Given the description of an element on the screen output the (x, y) to click on. 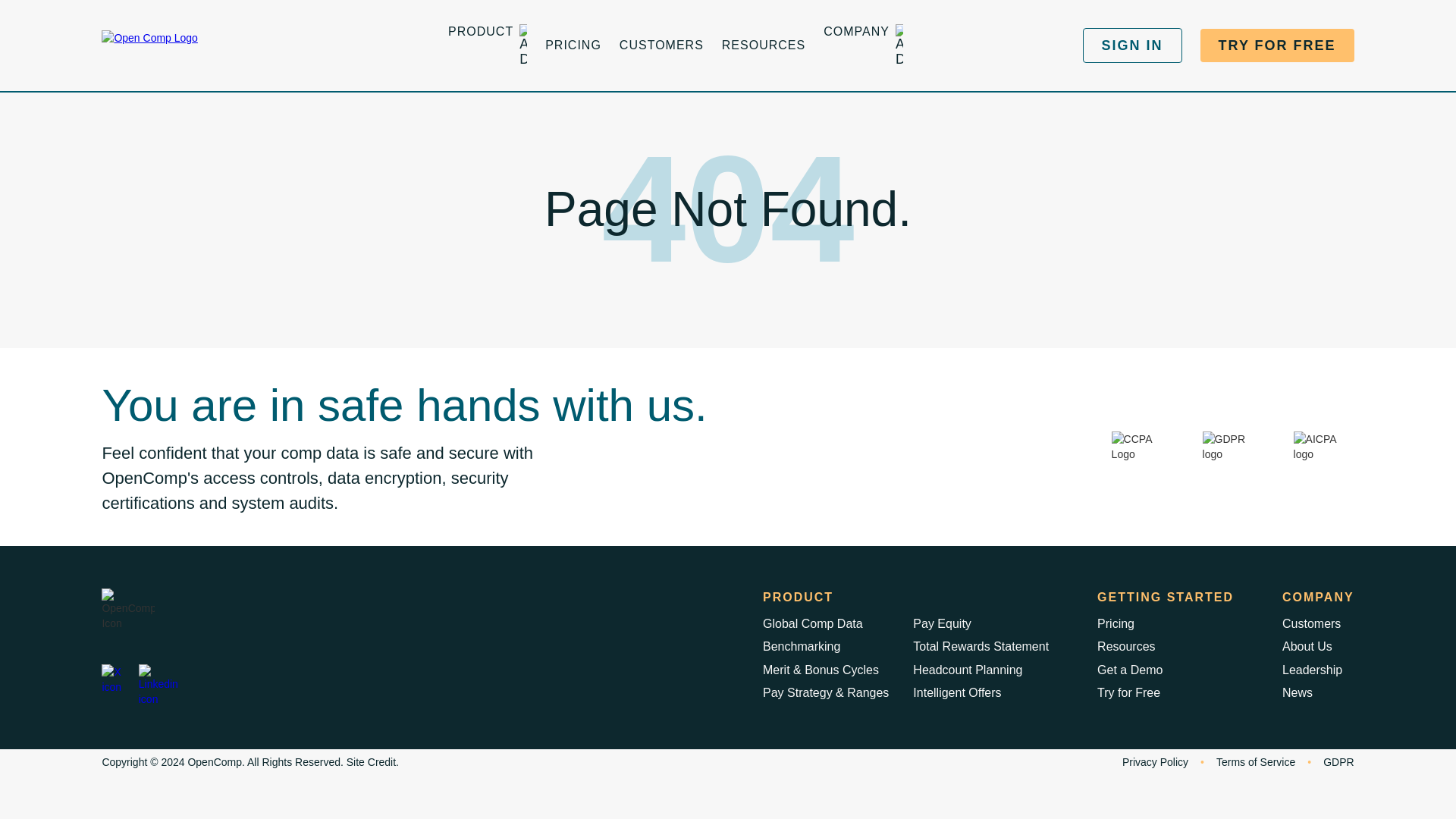
SIGN IN (1132, 45)
PRODUCT (480, 45)
TRY FOR FREE (1276, 45)
CUSTOMERS (661, 45)
RESOURCES (763, 45)
PRICING (572, 45)
